Given the description of an element on the screen output the (x, y) to click on. 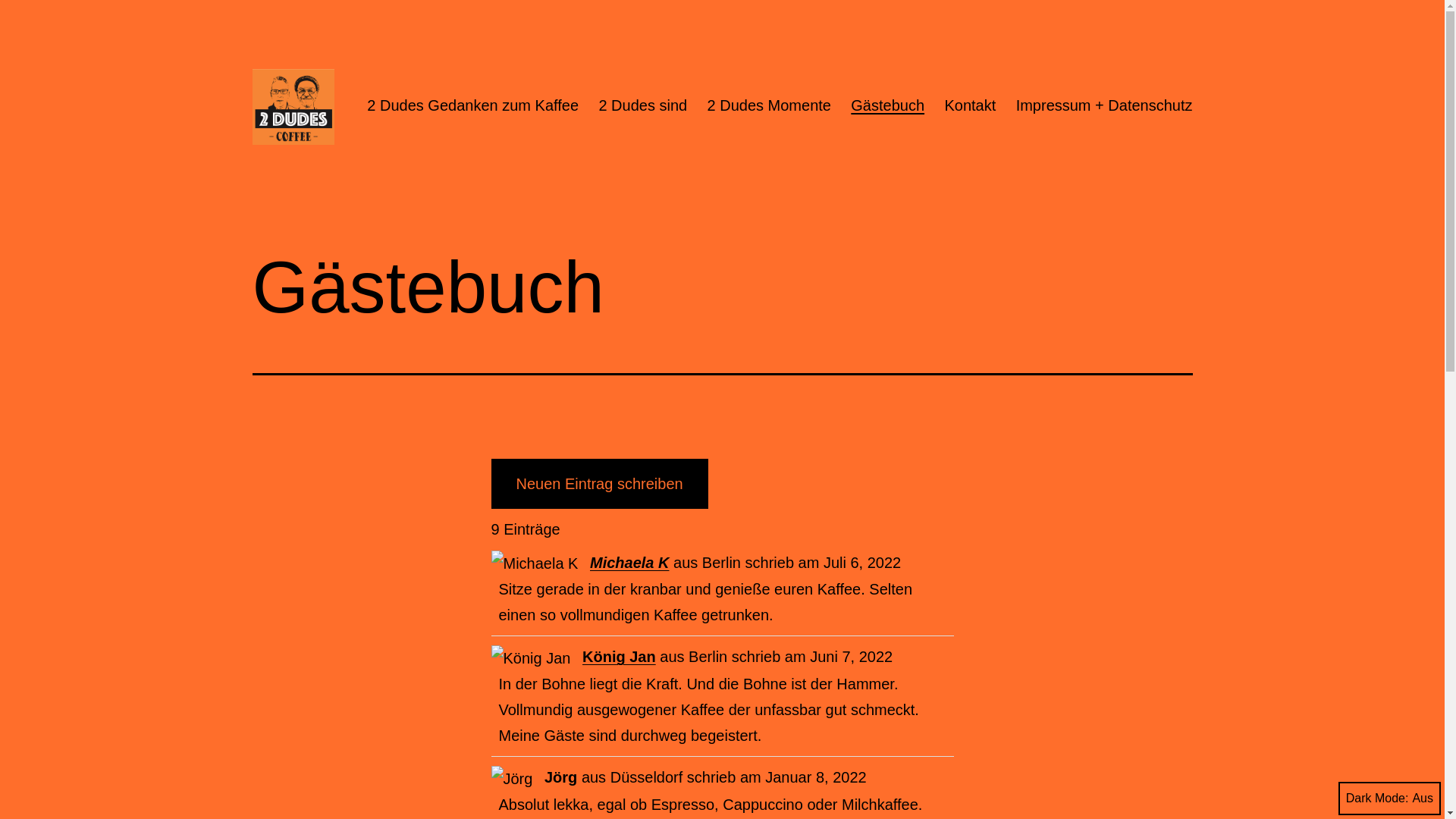
2 Dudes Gedanken zum Kaffee Element type: text (472, 104)
Dark Mode: Element type: text (1389, 798)
2 Dudes sind Element type: text (642, 104)
Impressum + Datenschutz Element type: text (1103, 104)
Kontakt Element type: text (969, 104)
Michaela K Element type: text (628, 562)
2 Dudes Momente Element type: text (768, 104)
